Given the description of an element on the screen output the (x, y) to click on. 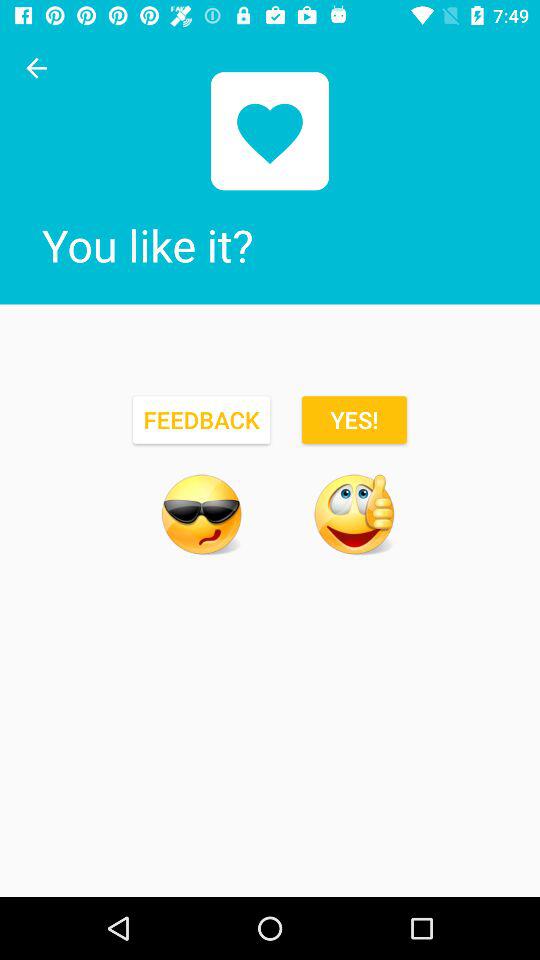
emoji (201, 514)
